Given the description of an element on the screen output the (x, y) to click on. 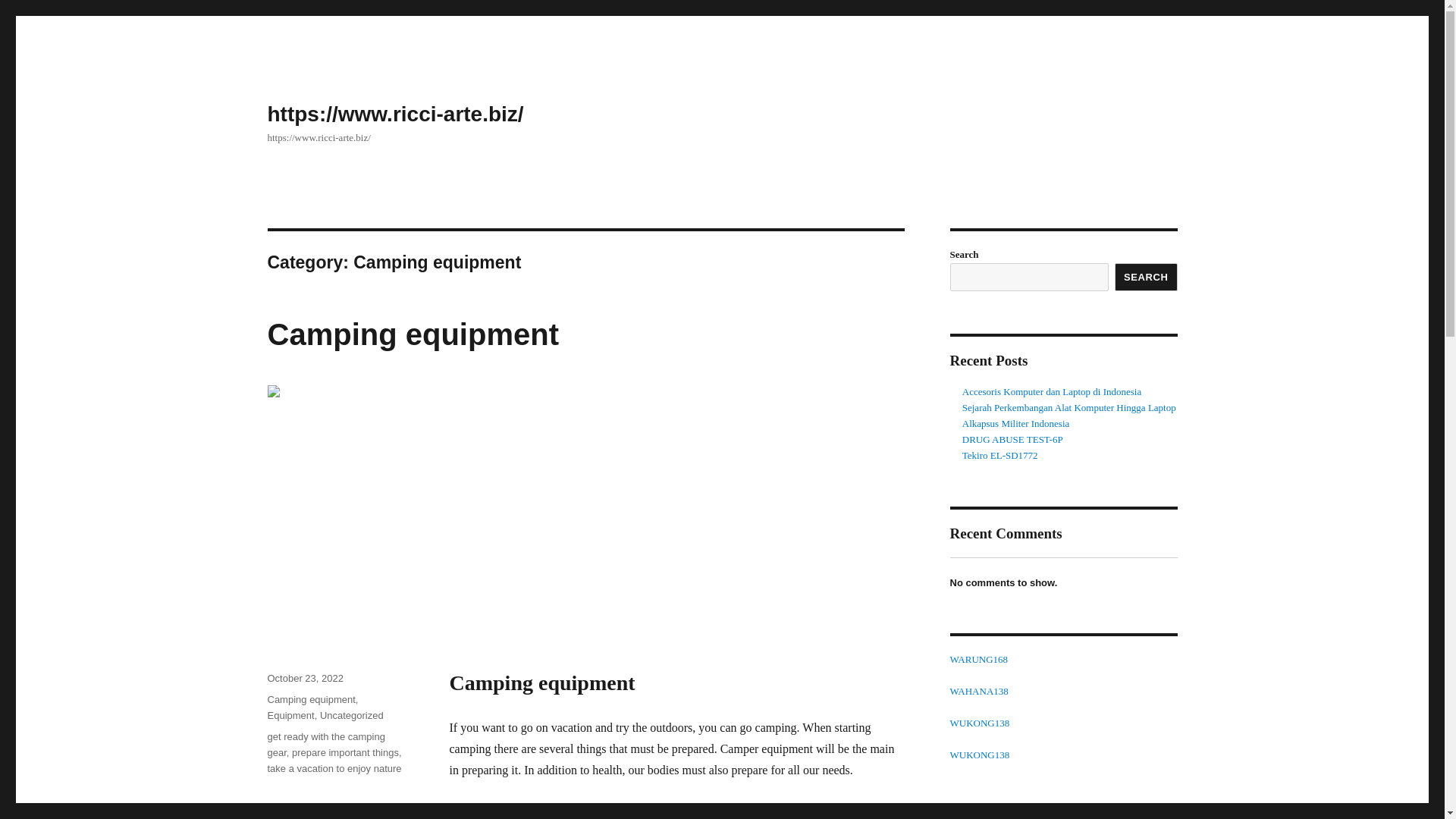
SEARCH (1146, 276)
prepare important things (345, 752)
Uncategorized (352, 715)
WUKONG138 (979, 722)
Alkapsus Militer Indonesia (1016, 423)
WAHANA138 (978, 690)
Equipment (290, 715)
Camping equipment (310, 699)
DRUG ABUSE TEST-6P (1012, 439)
Tekiro EL-SD1772 (1000, 455)
